Given the description of an element on the screen output the (x, y) to click on. 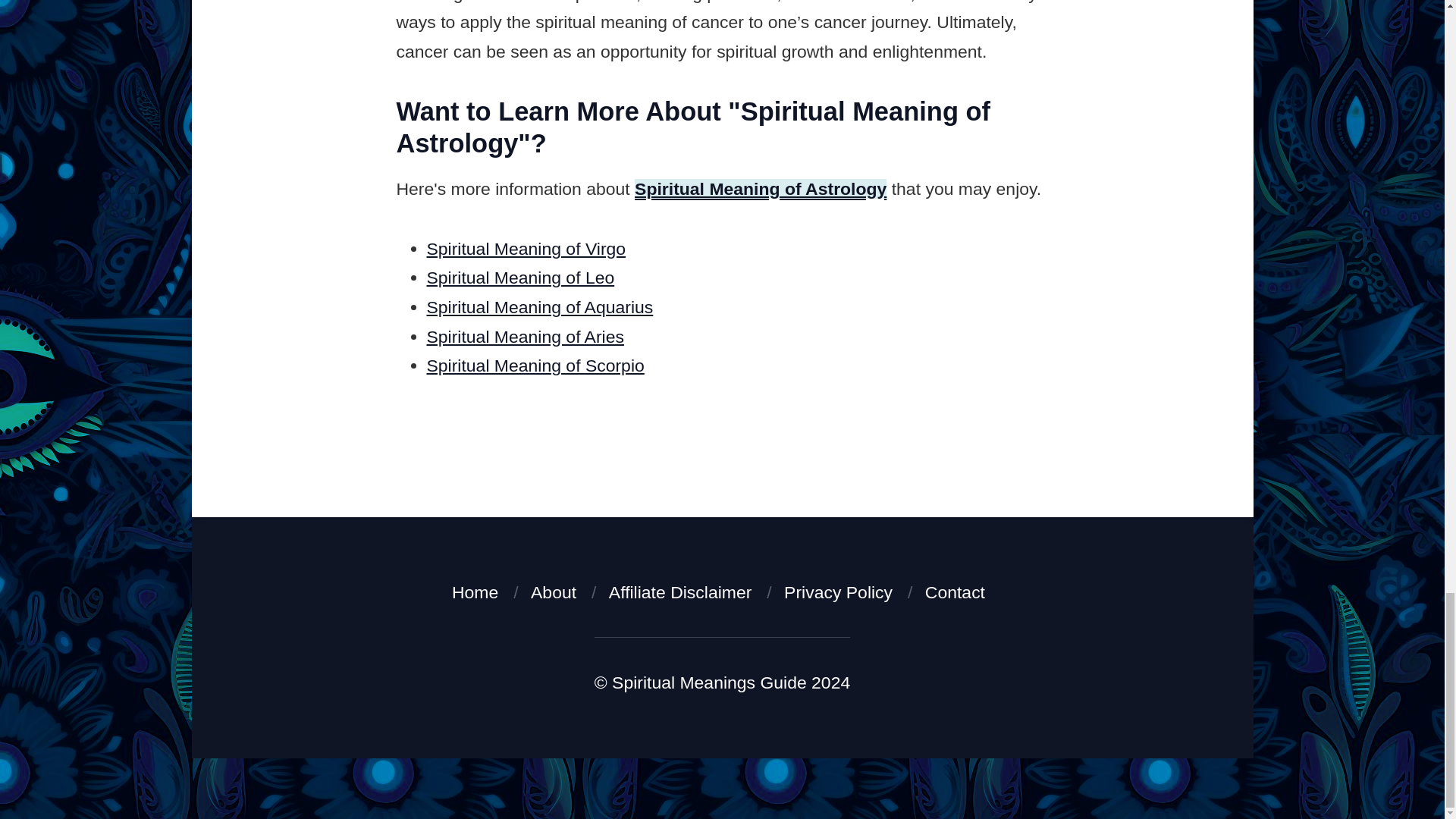
Spiritual Meaning of Virgo (526, 248)
Contact (954, 591)
Privacy Policy (838, 591)
About (553, 591)
Spiritual Meaning of Aquarius (539, 306)
Spiritual Meaning of Aries (524, 336)
Spiritual Meaning of Scorpio (534, 365)
Spiritual Meaning of Leo (520, 277)
Affiliate Disclaimer (679, 591)
Spiritual Meaning of Astrology (760, 189)
